Given the description of an element on the screen output the (x, y) to click on. 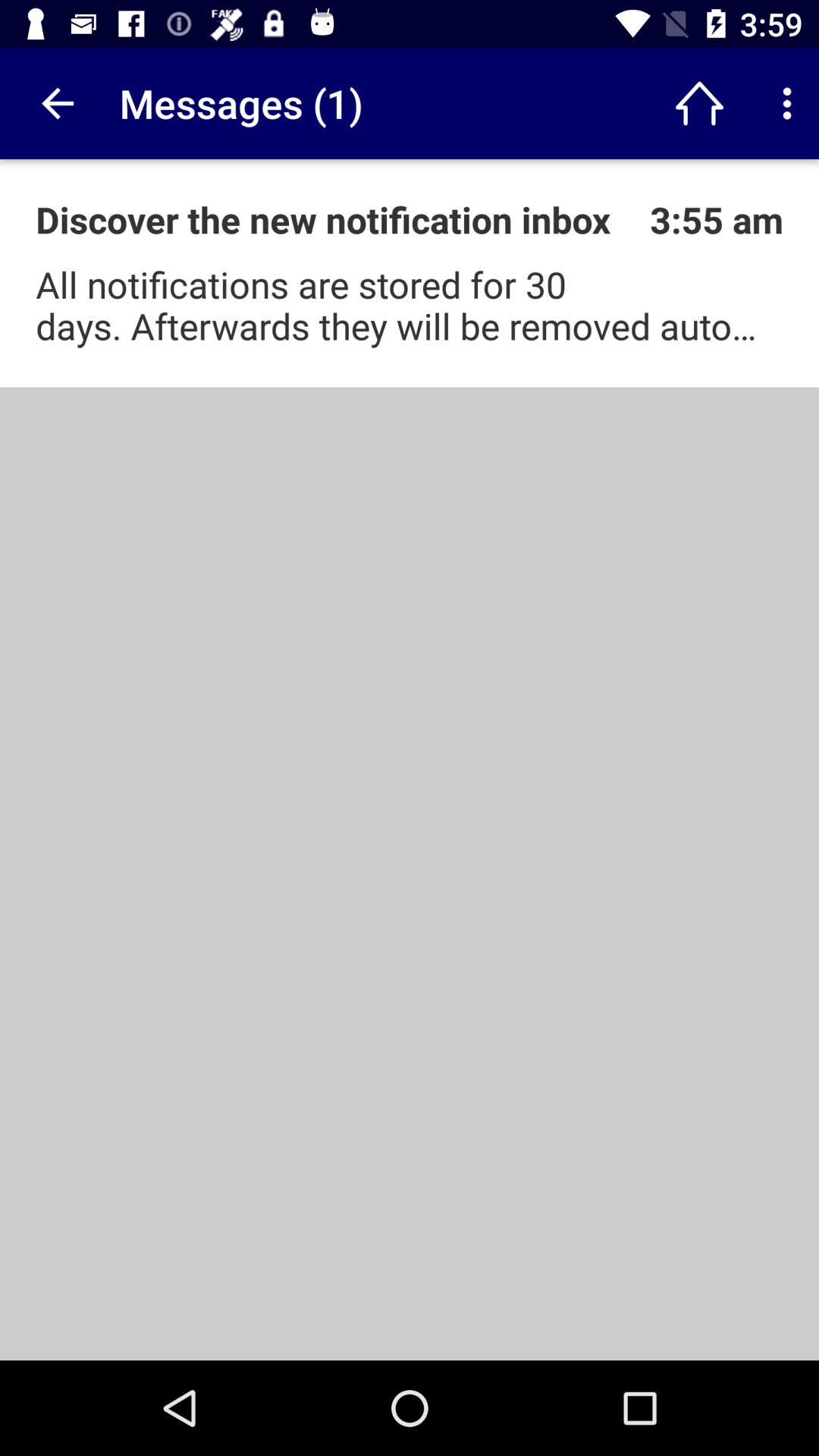
open settings menu (787, 103)
